Given the description of an element on the screen output the (x, y) to click on. 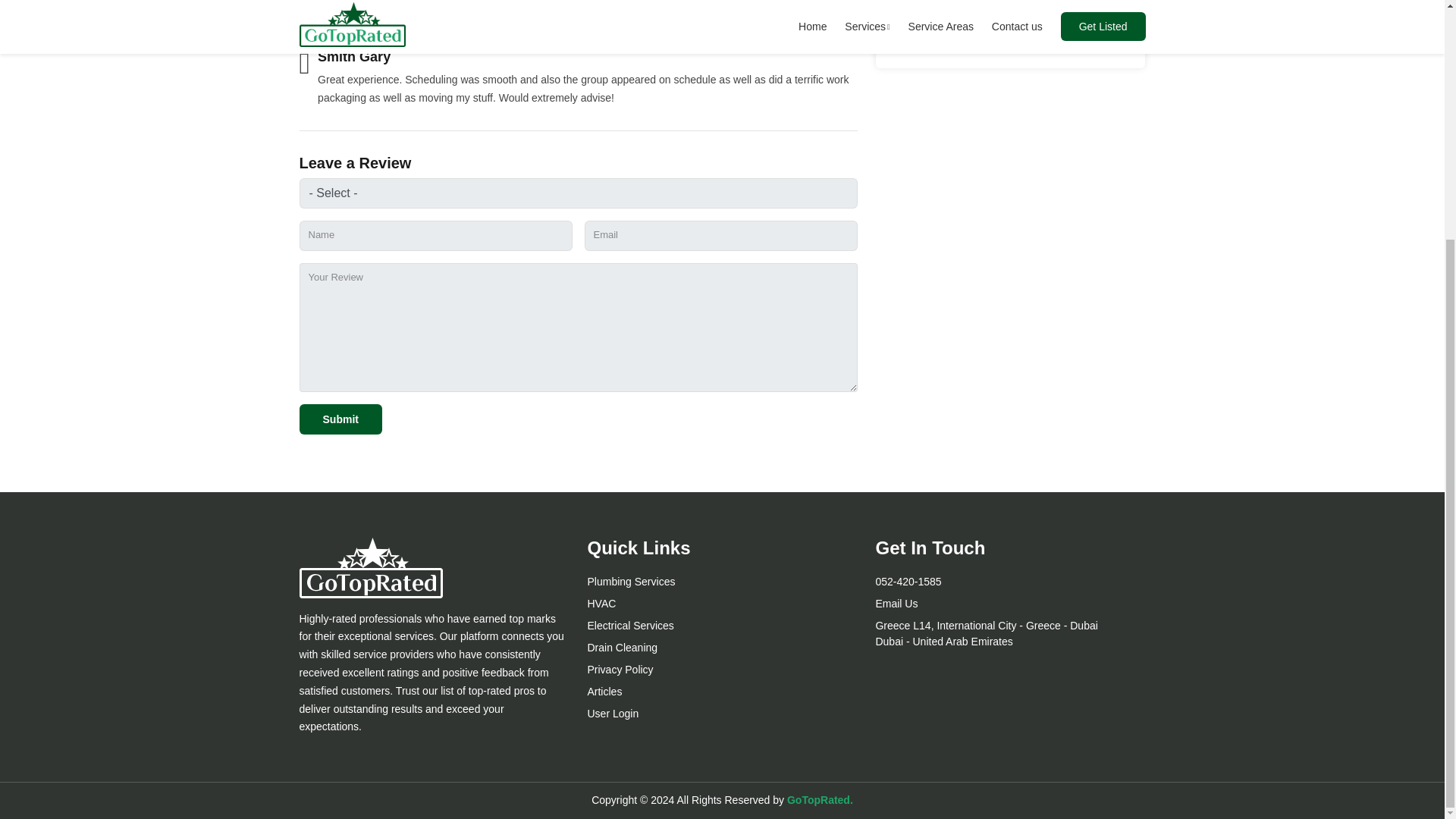
Submit (339, 419)
